Given the description of an element on the screen output the (x, y) to click on. 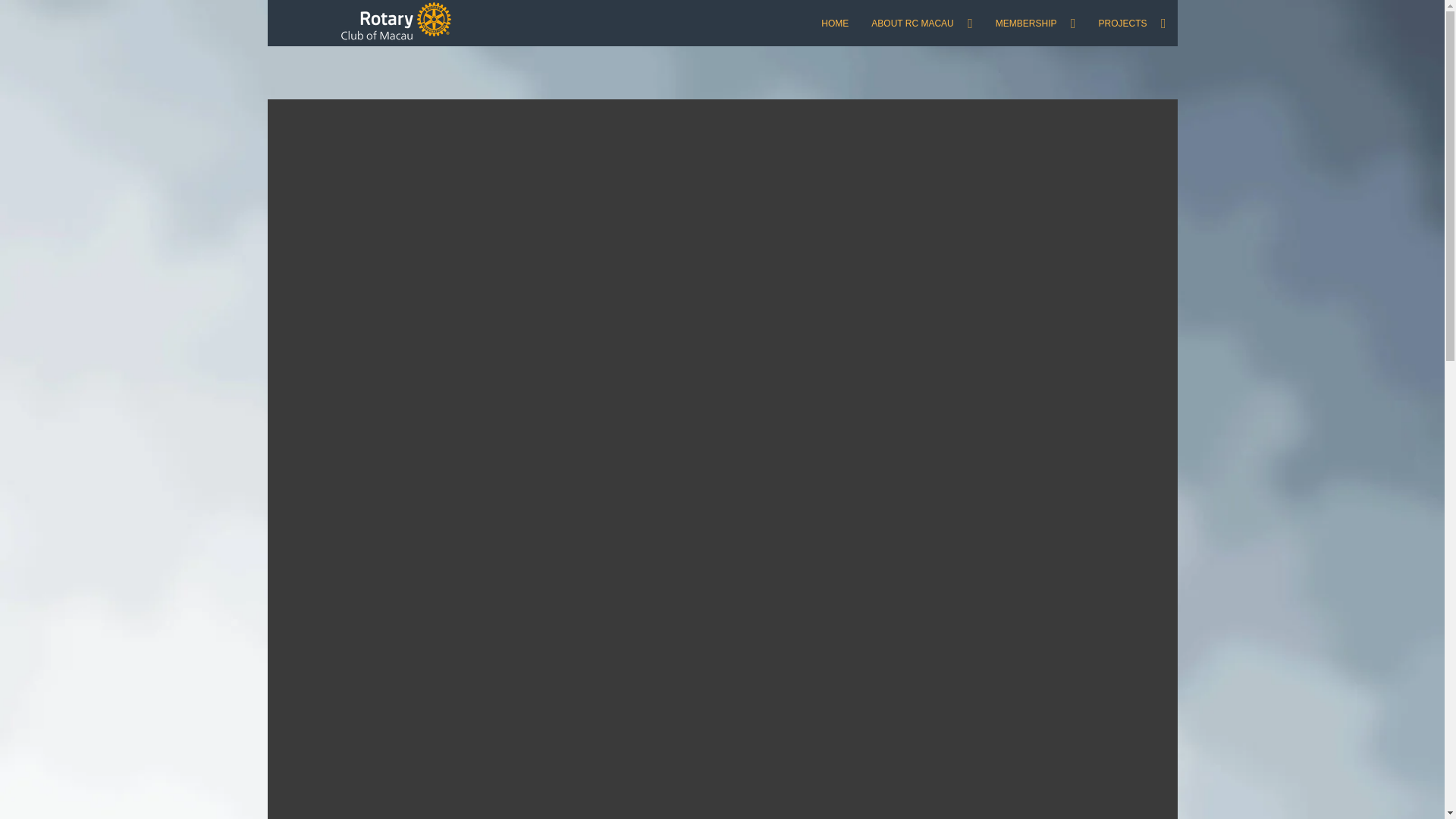
PROJECTS (1131, 22)
MEMBERSHIP (1035, 22)
ABOUT RC MACAU (922, 22)
HOME (834, 22)
